Given the description of an element on the screen output the (x, y) to click on. 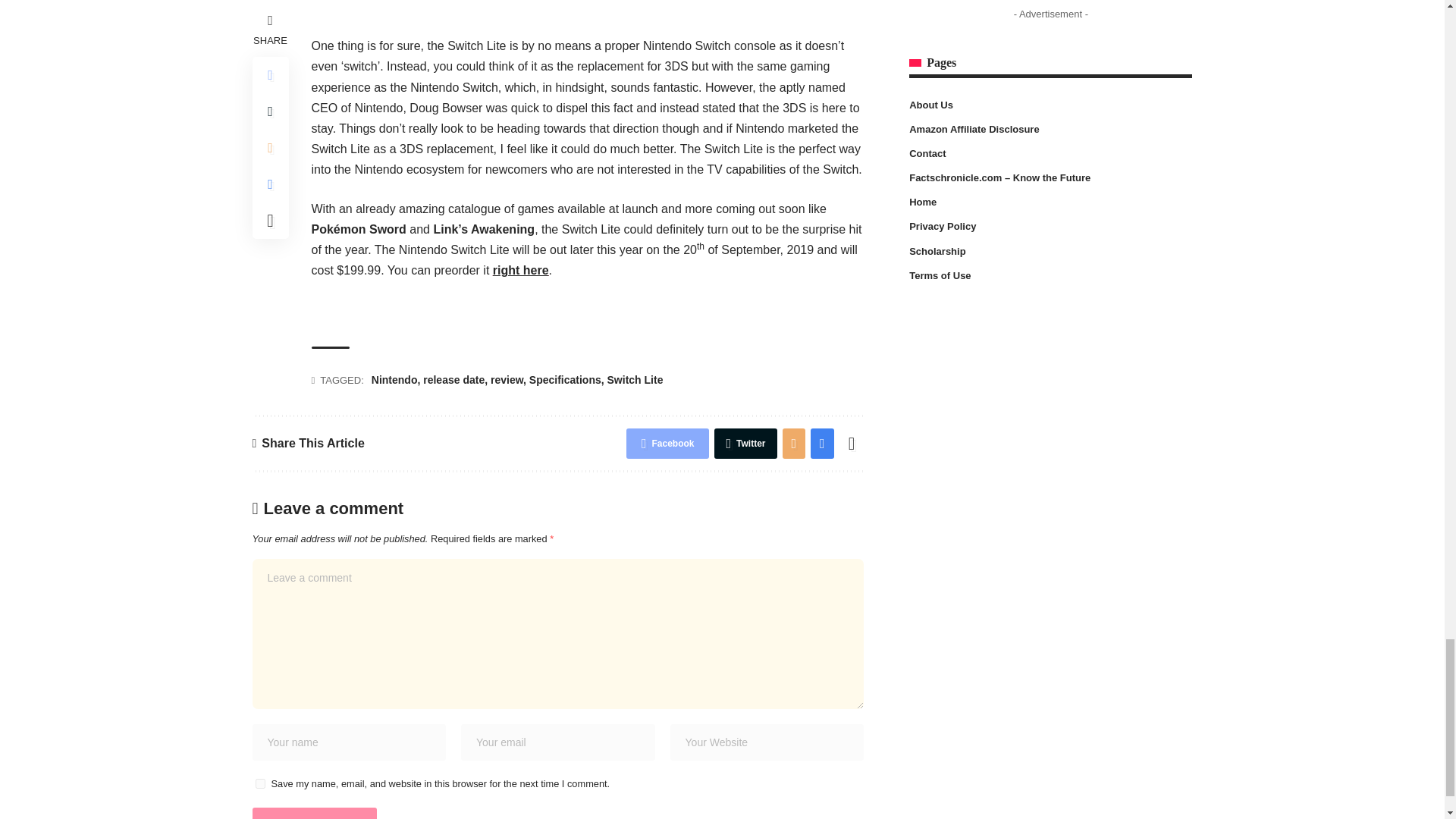
Post Comment (314, 813)
yes (259, 783)
